Given the description of an element on the screen output the (x, y) to click on. 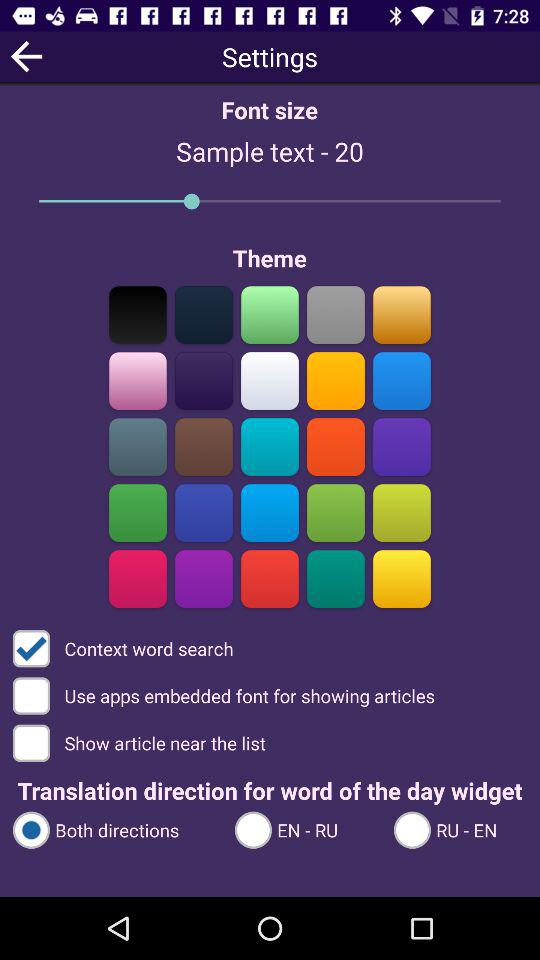
select the color of theme select the theme color (269, 380)
